Given the description of an element on the screen output the (x, y) to click on. 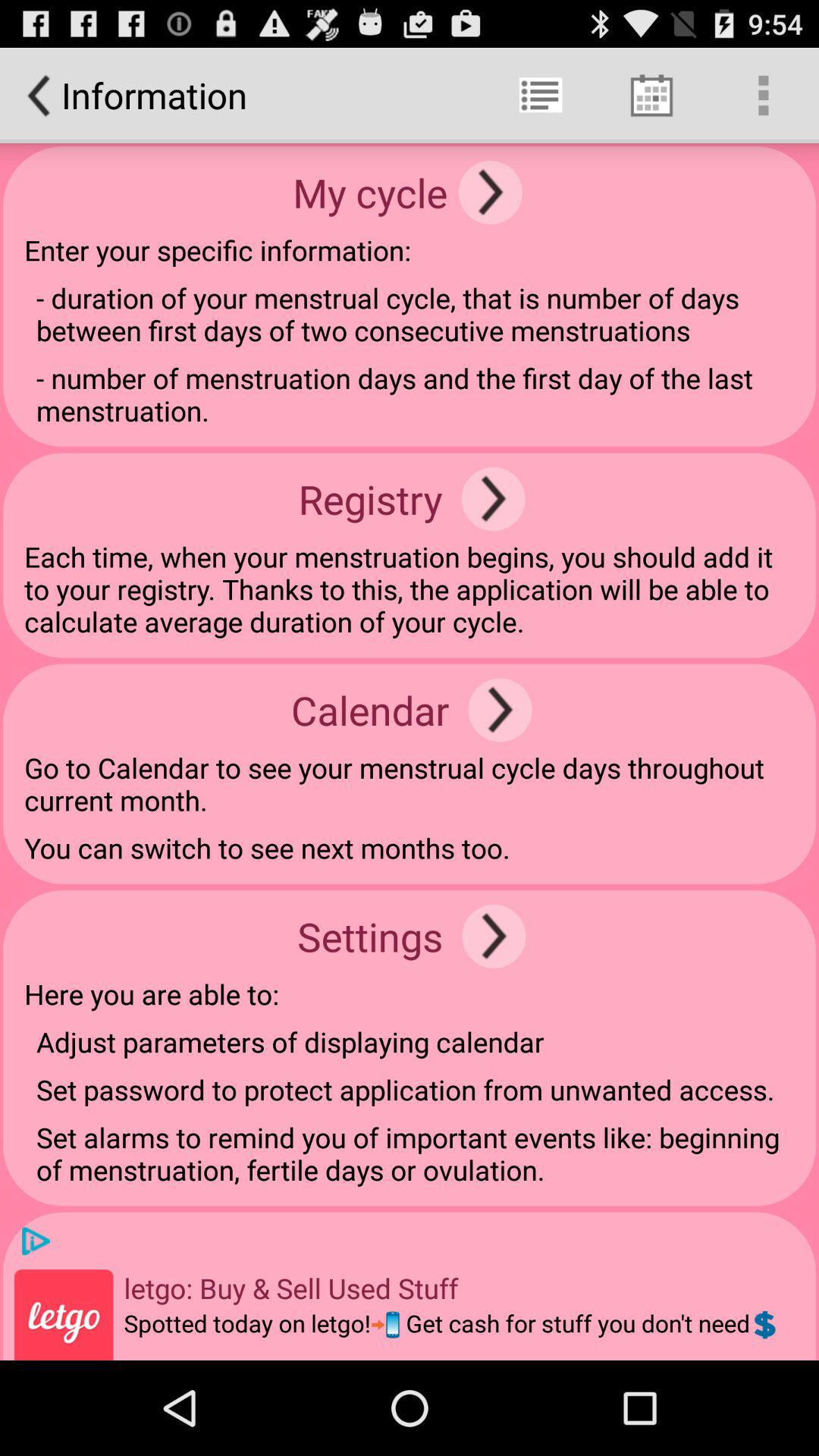
open the icon above the adjust parameters of app (493, 936)
